Given the description of an element on the screen output the (x, y) to click on. 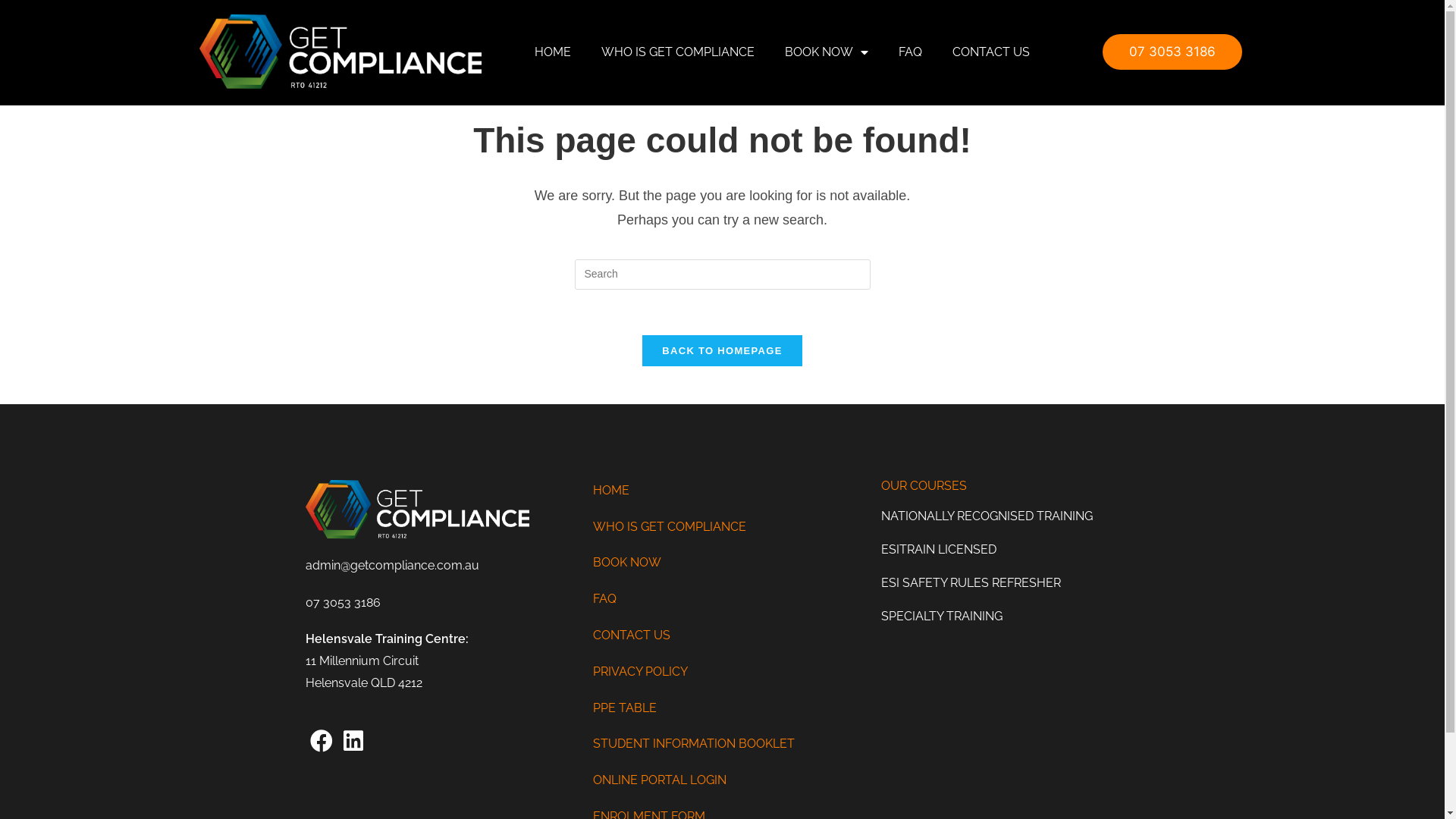
Helensvale Training Centre: Element type: text (385, 638)
BOOK NOW Element type: text (721, 563)
HOME Element type: text (552, 51)
ESITRAIN LICENSED Element type: text (1010, 549)
CONTACT US Element type: text (721, 635)
07 3053 3186 Element type: text (341, 602)
STUDENT INFORMATION BOOKLET Element type: text (721, 744)
ESI SAFETY RULES REFRESHER Element type: text (1010, 582)
admin@getcompliance.com.au Element type: text (391, 565)
07 3053 3186 Element type: text (1172, 51)
FAQ Element type: text (721, 599)
BACK TO HOMEPAGE Element type: text (721, 350)
HOME Element type: text (721, 491)
WHO IS GET COMPLIANCE Element type: text (677, 51)
ONLINE PORTAL LOGIN Element type: text (721, 780)
WHO IS GET COMPLIANCE Element type: text (721, 527)
404 Not Found Element type: text (1143, 38)
PRIVACY POLICY Element type: text (721, 672)
PPE TABLE Element type: text (721, 708)
SPECIALTY TRAINING Element type: text (1010, 615)
FAQ Element type: text (910, 51)
BOOK NOW Element type: text (826, 51)
NATIONALLY RECOGNISED TRAINING Element type: text (1010, 515)
CONTACT US Element type: text (990, 51)
